Given the description of an element on the screen output the (x, y) to click on. 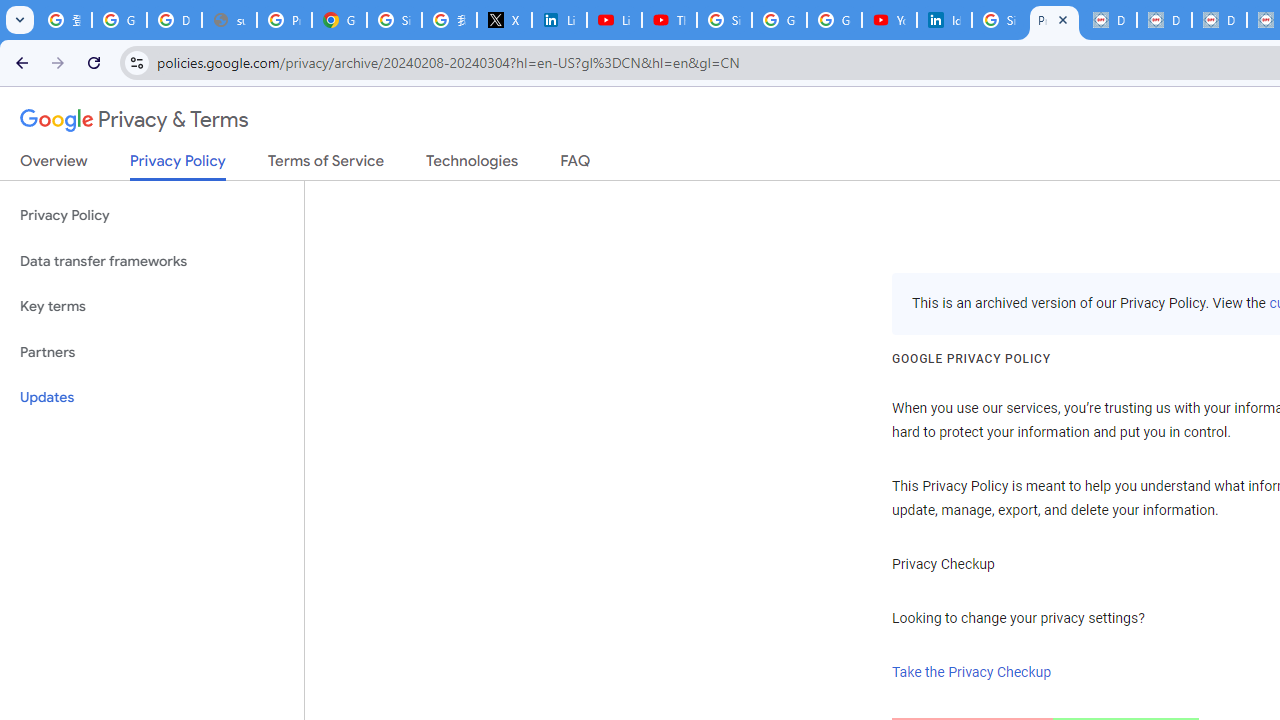
Sign in - Google Accounts (724, 20)
support.google.com - Network error (229, 20)
Sign in - Google Accounts (394, 20)
LinkedIn - YouTube (614, 20)
